Given the description of an element on the screen output the (x, y) to click on. 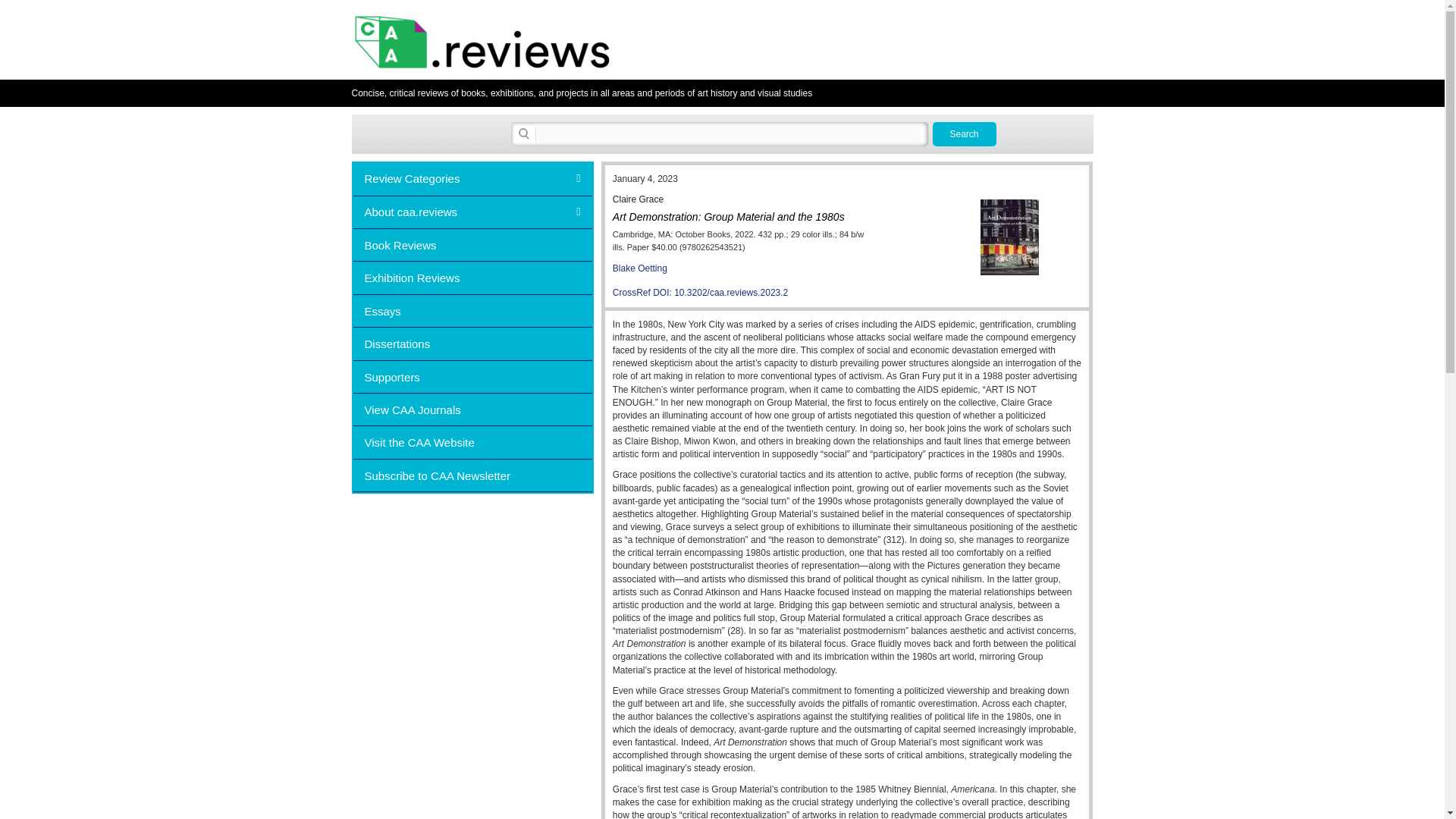
Review Categories (472, 178)
Search (964, 134)
Search (964, 134)
